Given the description of an element on the screen output the (x, y) to click on. 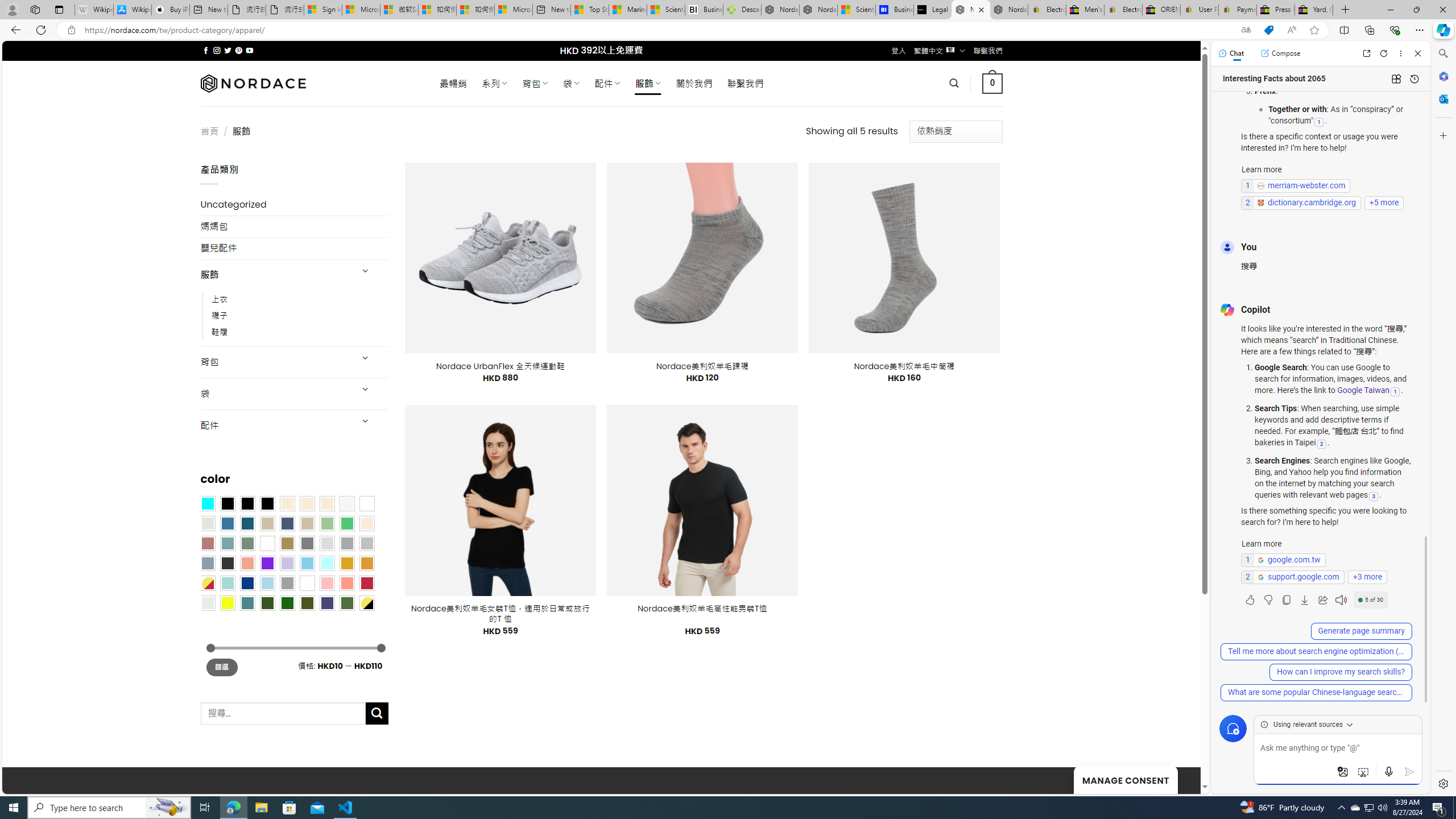
Nordace - Summer Adventures 2024 (780, 9)
Go to top (1177, 777)
MANAGE CONSENT (1125, 779)
This site has coupons! Shopping in Microsoft Edge (1268, 29)
